Given the description of an element on the screen output the (x, y) to click on. 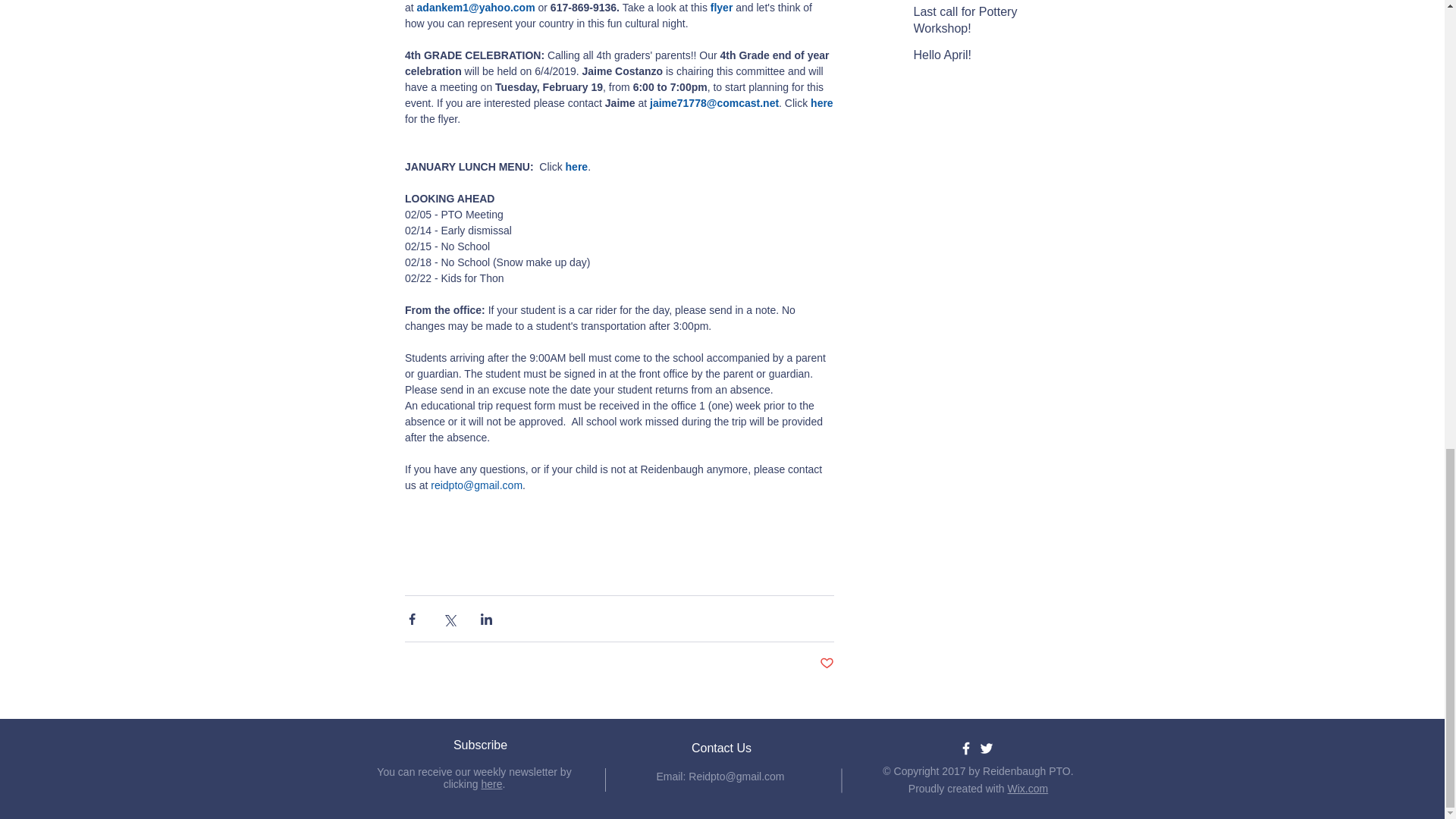
here  (822, 102)
Hello April! (981, 57)
here (576, 166)
flyer  (722, 7)
Post not marked as liked (825, 663)
Last call for Pottery Workshop! (981, 24)
here (491, 784)
